Given the description of an element on the screen output the (x, y) to click on. 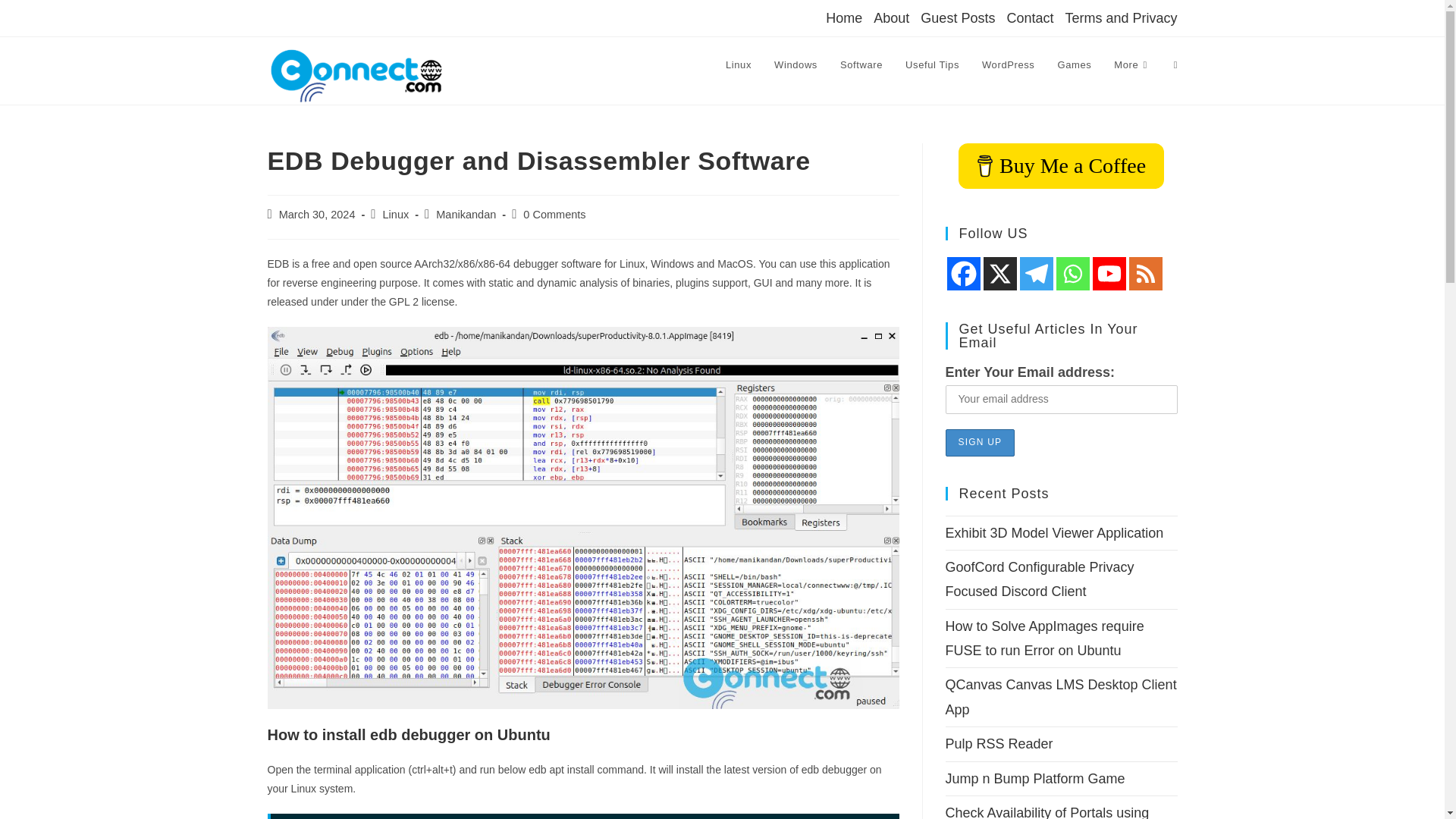
Whatsapp (1072, 273)
Software (860, 64)
Windows (795, 64)
RSS feed (1144, 273)
Sign up (979, 442)
Terms and Privacy (1120, 17)
Posts by Manikandan (465, 214)
X (999, 273)
Home (843, 17)
Facebook (962, 273)
Contact (1029, 17)
About (890, 17)
Guest Posts (957, 17)
WordPress (1008, 64)
Games (1073, 64)
